Given the description of an element on the screen output the (x, y) to click on. 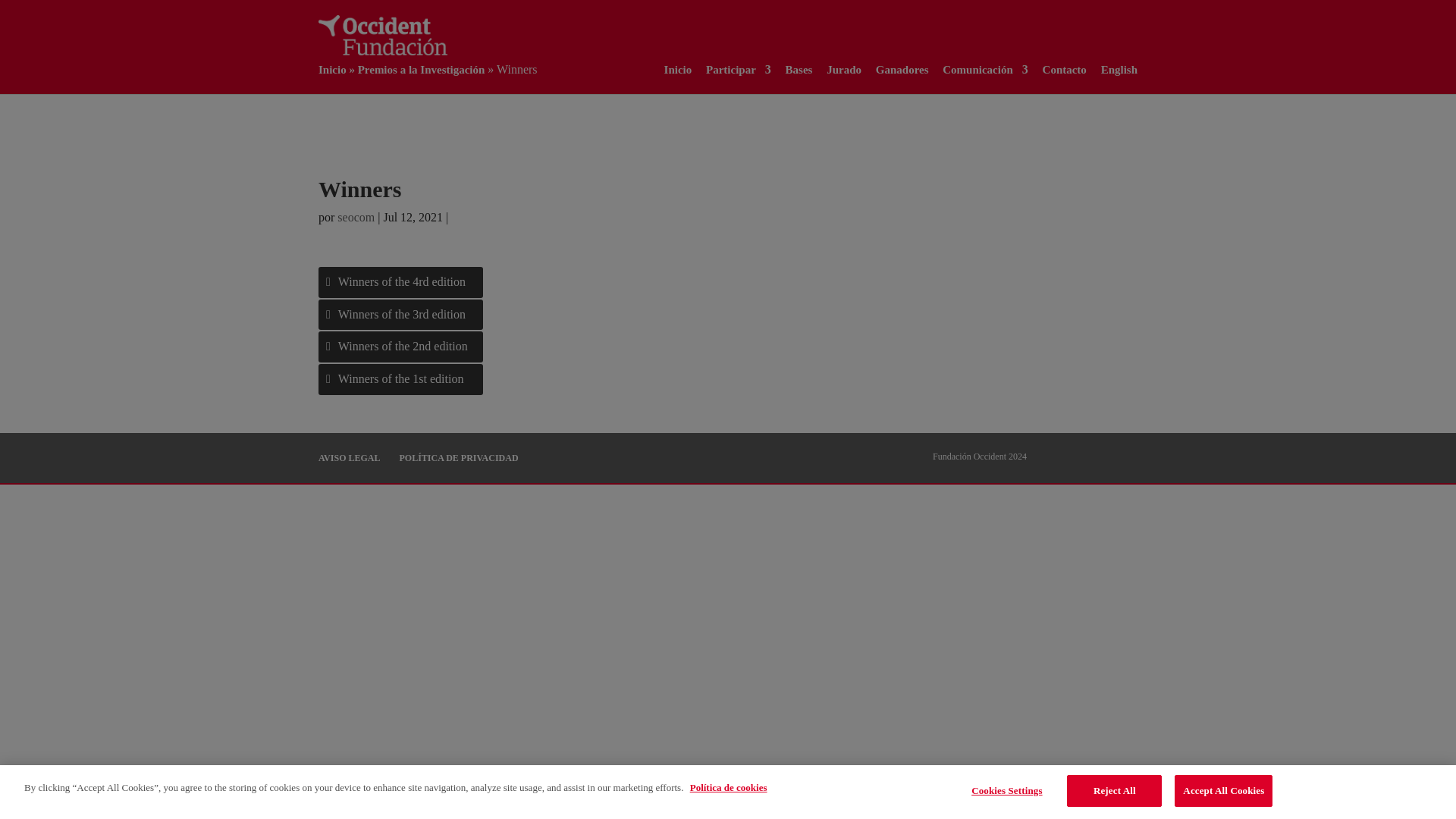
English (1118, 69)
Mensajes de seocom (355, 216)
Contacto (1064, 69)
AVISO LEGAL (349, 457)
Participar (738, 69)
Ganadores (902, 69)
seocom (355, 216)
Inicio (678, 69)
Jurado (844, 69)
Bases (799, 69)
